Given the description of an element on the screen output the (x, y) to click on. 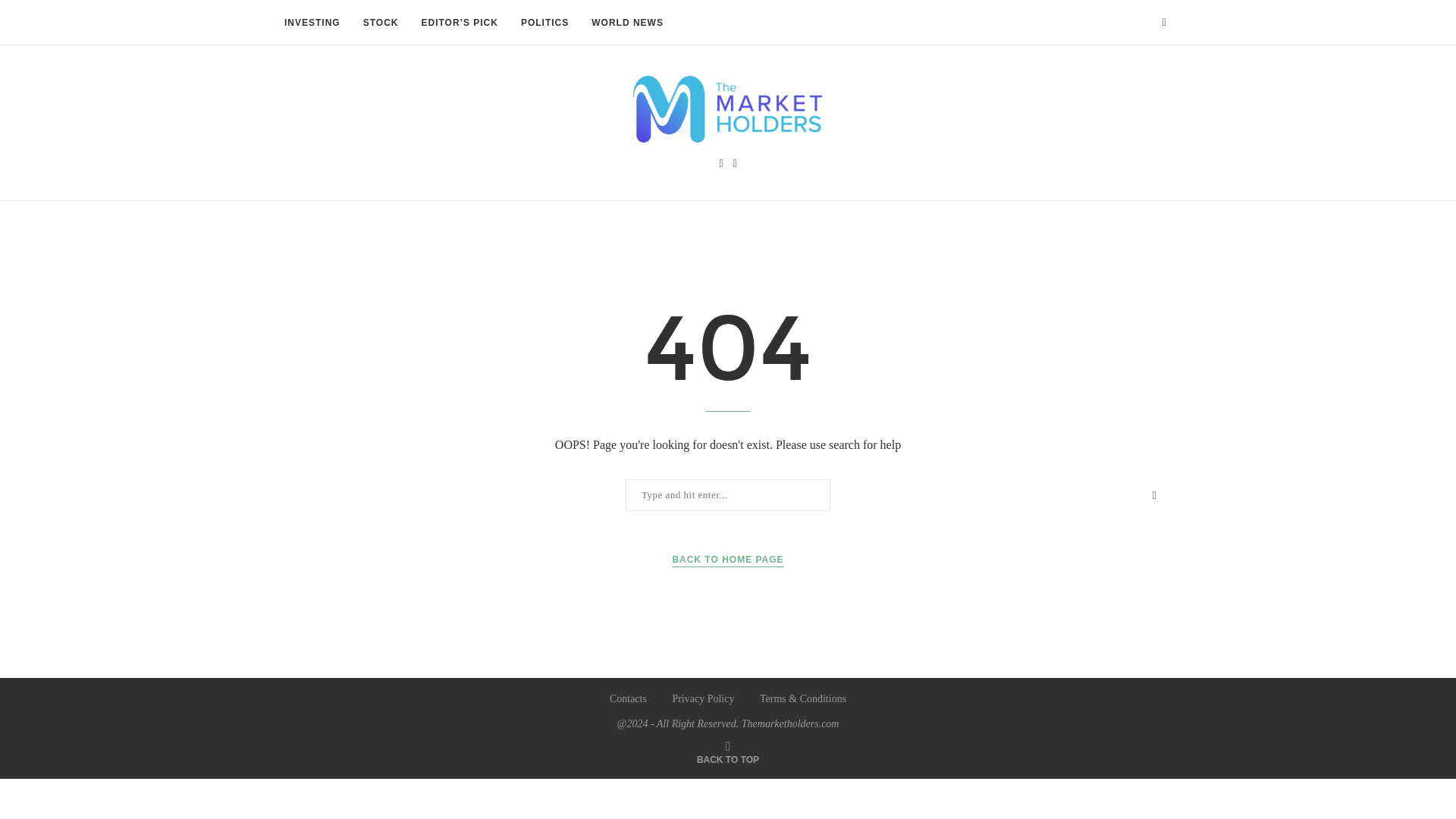
Contacts (628, 698)
Privacy Policy (702, 698)
WORLD NEWS (627, 22)
BACK TO HOME PAGE (727, 559)
BACK TO TOP (727, 758)
POLITICS (545, 22)
INVESTING (311, 22)
